Given the description of an element on the screen output the (x, y) to click on. 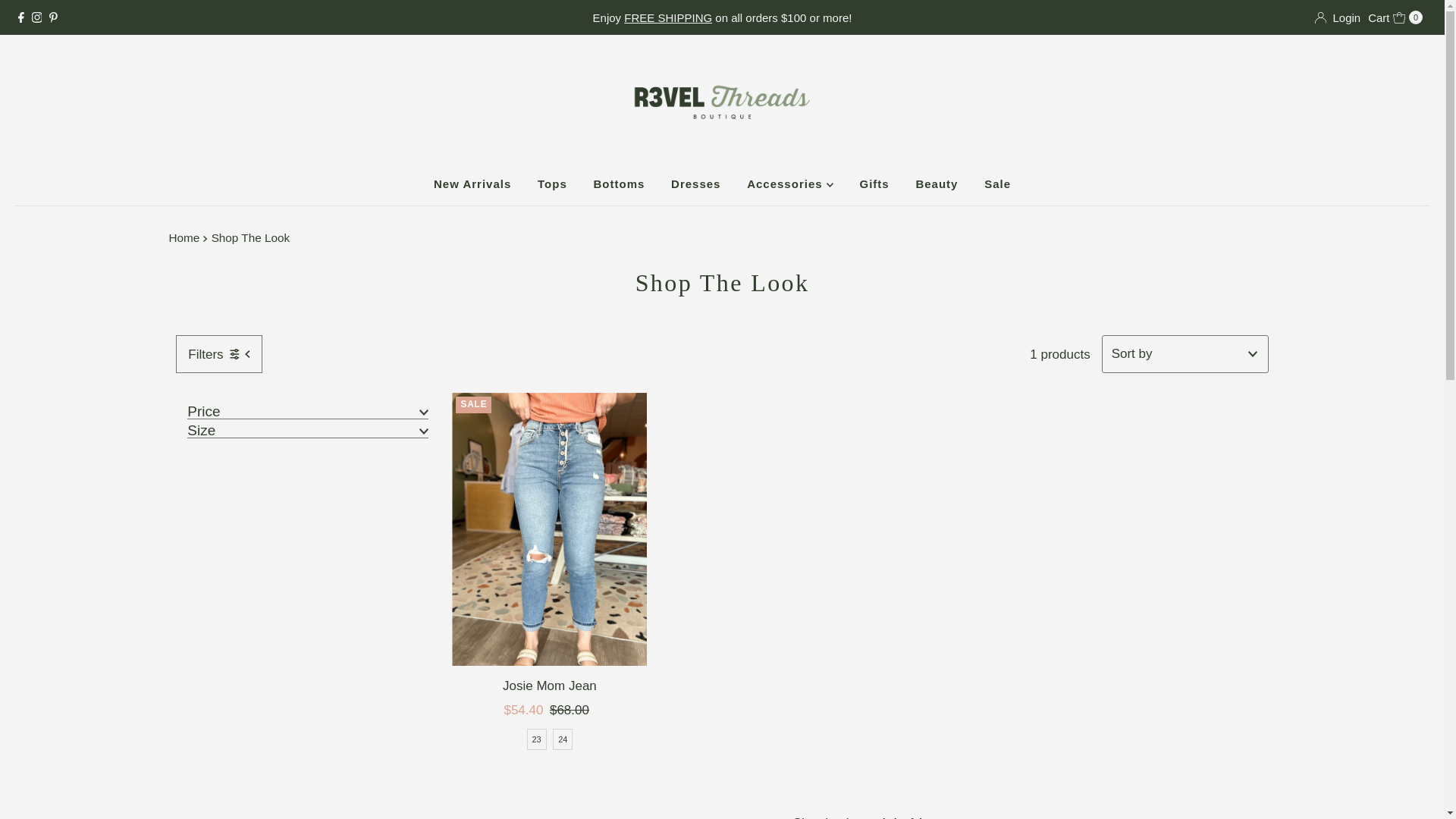
Filters (219, 353)
FREE SHIPPING (1395, 17)
New Arrivals (667, 17)
Dresses (472, 184)
Tops (695, 184)
Gifts (551, 184)
  Login (873, 184)
Home (1336, 17)
Back to the frontpage (185, 237)
